Given the description of an element on the screen output the (x, y) to click on. 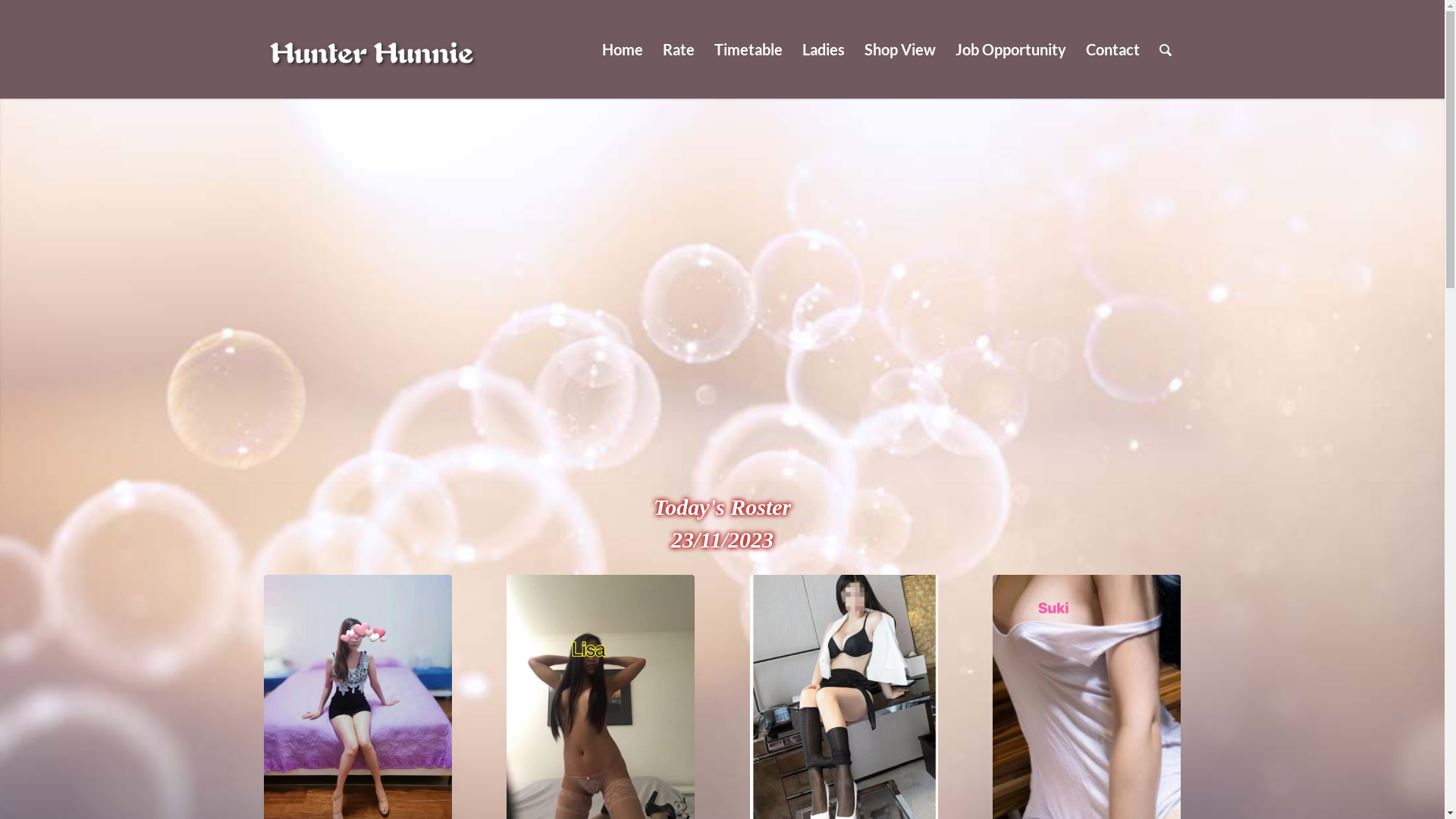
Rate Element type: text (677, 49)
Ladies Element type: text (822, 49)
Timetable Element type: text (747, 49)
Shop View Element type: text (898, 49)
Contact Element type: text (1111, 49)
Job Opportunity Element type: text (1009, 49)
Home Element type: text (621, 49)
